Given the description of an element on the screen output the (x, y) to click on. 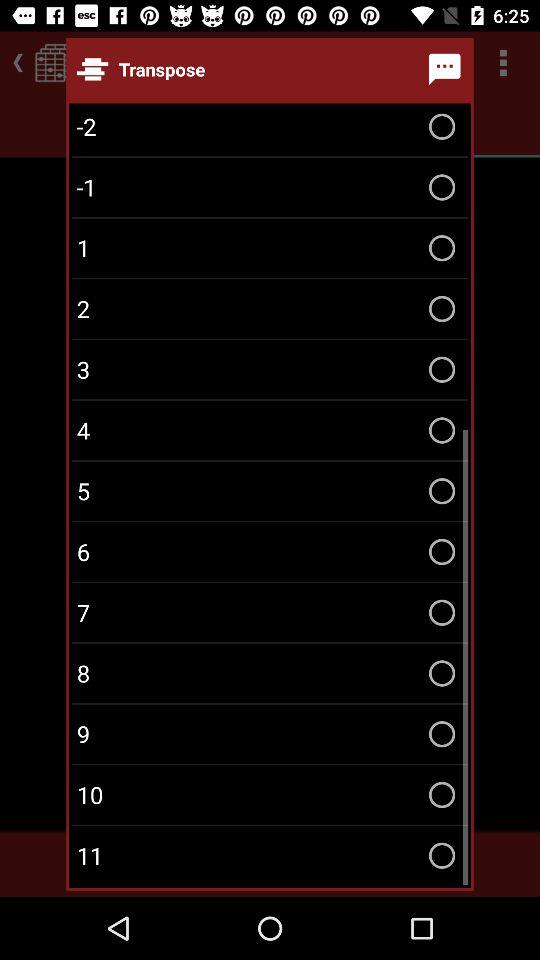
open the icon above the 11 item (269, 794)
